Given the description of an element on the screen output the (x, y) to click on. 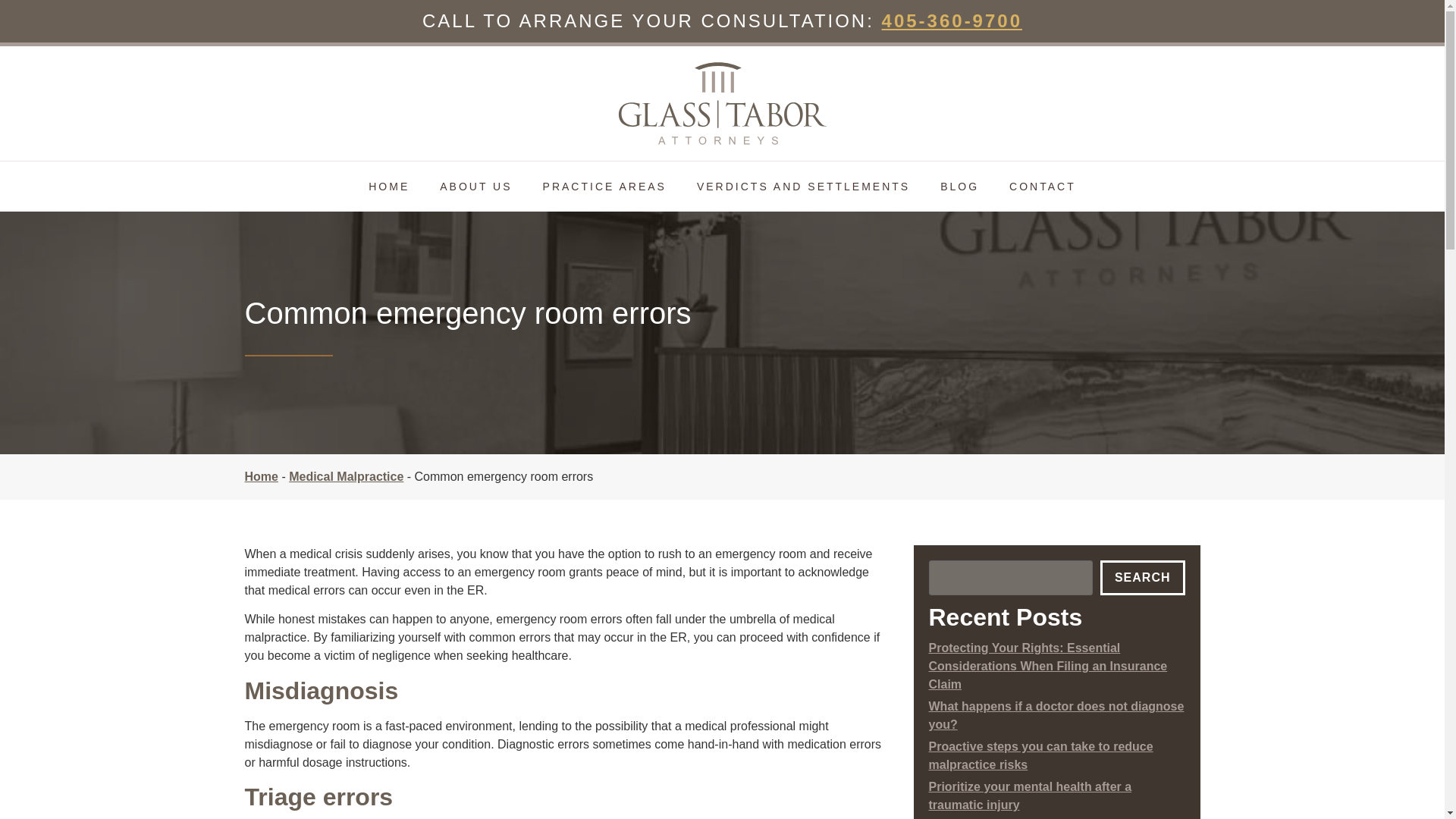
CONTACT (1042, 185)
405-360-9700 (952, 20)
VERDICTS AND SETTLEMENTS (802, 185)
ABOUT US (476, 185)
HOME (389, 185)
BLOG (959, 185)
PRACTICE AREAS (604, 185)
